Given the description of an element on the screen output the (x, y) to click on. 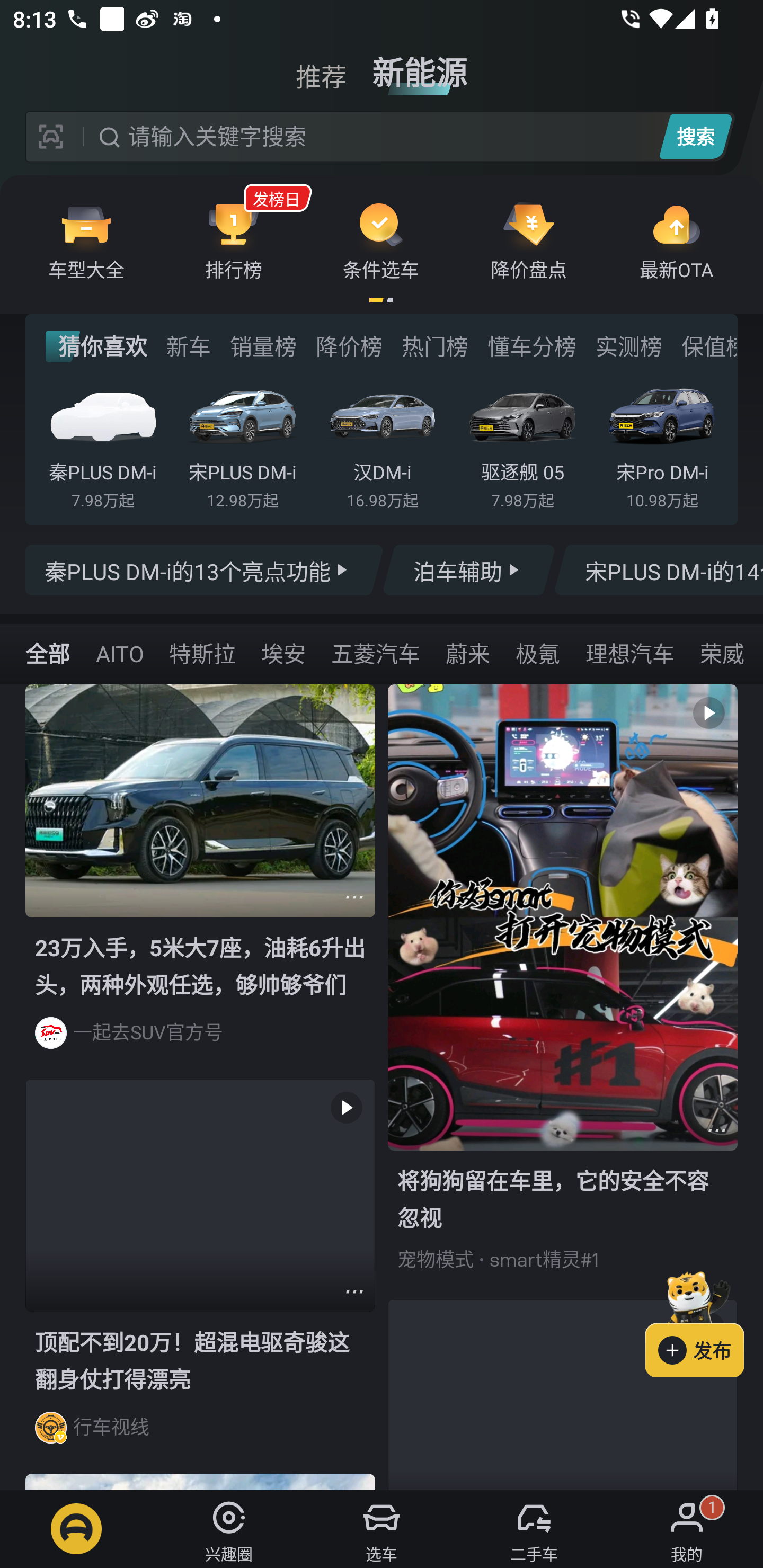
推荐 (321, 65)
新能源 (419, 65)
搜索 (695, 136)
车型大全 (86, 240)
发榜日 排行榜 (233, 240)
条件选车 (380, 240)
降价盘点 (528, 240)
最新OTA (676, 240)
猜你喜欢 (96, 346)
新车 (188, 346)
销量榜 (262, 346)
降价榜 (348, 346)
热门榜 (434, 346)
懂车分榜 (531, 346)
实测榜 (628, 346)
秦PLUS DM-i 7.98万起 (102, 442)
宋PLUS DM-i 12.98万起 (242, 442)
汉DM-i 16.98万起 (382, 442)
驱逐舰 05 7.98万起 (522, 442)
宋Pro DM-i 10.98万起 (662, 442)
秦PLUS DM-i的13个亮点功能 (204, 569)
泊车辅助 (468, 569)
宋PLUS DM-i的14个亮点功能 (658, 569)
全部 (47, 652)
AITO (119, 652)
特斯拉 (202, 652)
埃安 (283, 652)
五菱汽车 (375, 652)
蔚来 (467, 652)
极氪 (537, 652)
理想汽车 (630, 652)
荣威 (721, 652)
 23万入手，5米大7座，油耗6升出头，两种外观任选，够帅够爷们 一起去SUV官方号 (200, 880)
  将狗狗留在车里，它的安全不容忽视 宠物模式 smart精灵#1 (562, 991)
 (354, 896)
  顶配不到20万！超混电驱奇骏这翻身仗打得漂亮 行车视线 (200, 1275)
 (716, 1130)
smart精灵#1 (543, 1258)
发布 (704, 1320)
 (354, 1292)
 兴趣圈 (228, 1528)
 选车 (381, 1528)
 二手车 (533, 1528)
 我的 (686, 1528)
